Given the description of an element on the screen output the (x, y) to click on. 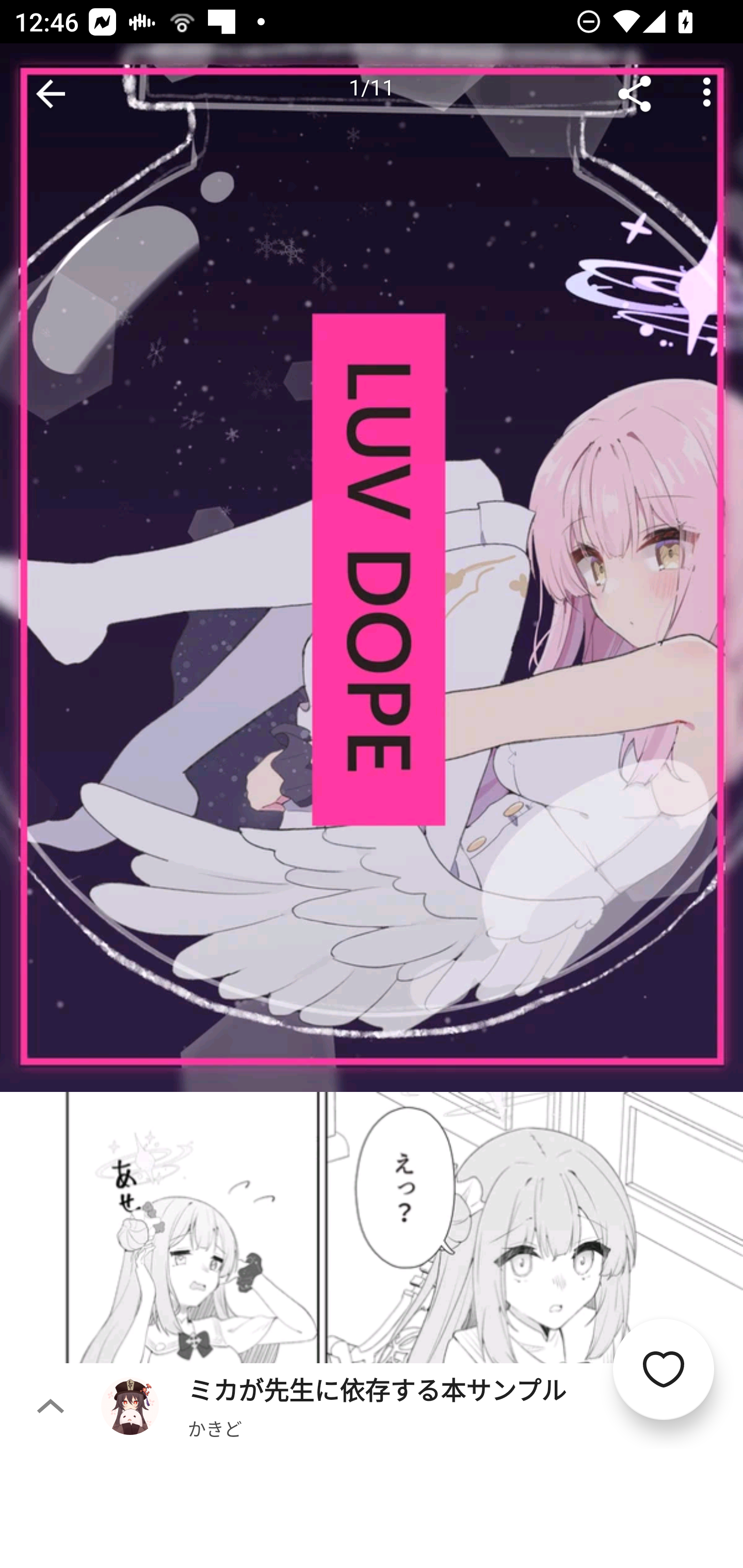
Share (634, 93)
More options (706, 93)
ミカが先生に依存する本サンプル かきど (422, 1405)
かきど (214, 1427)
